Given the description of an element on the screen output the (x, y) to click on. 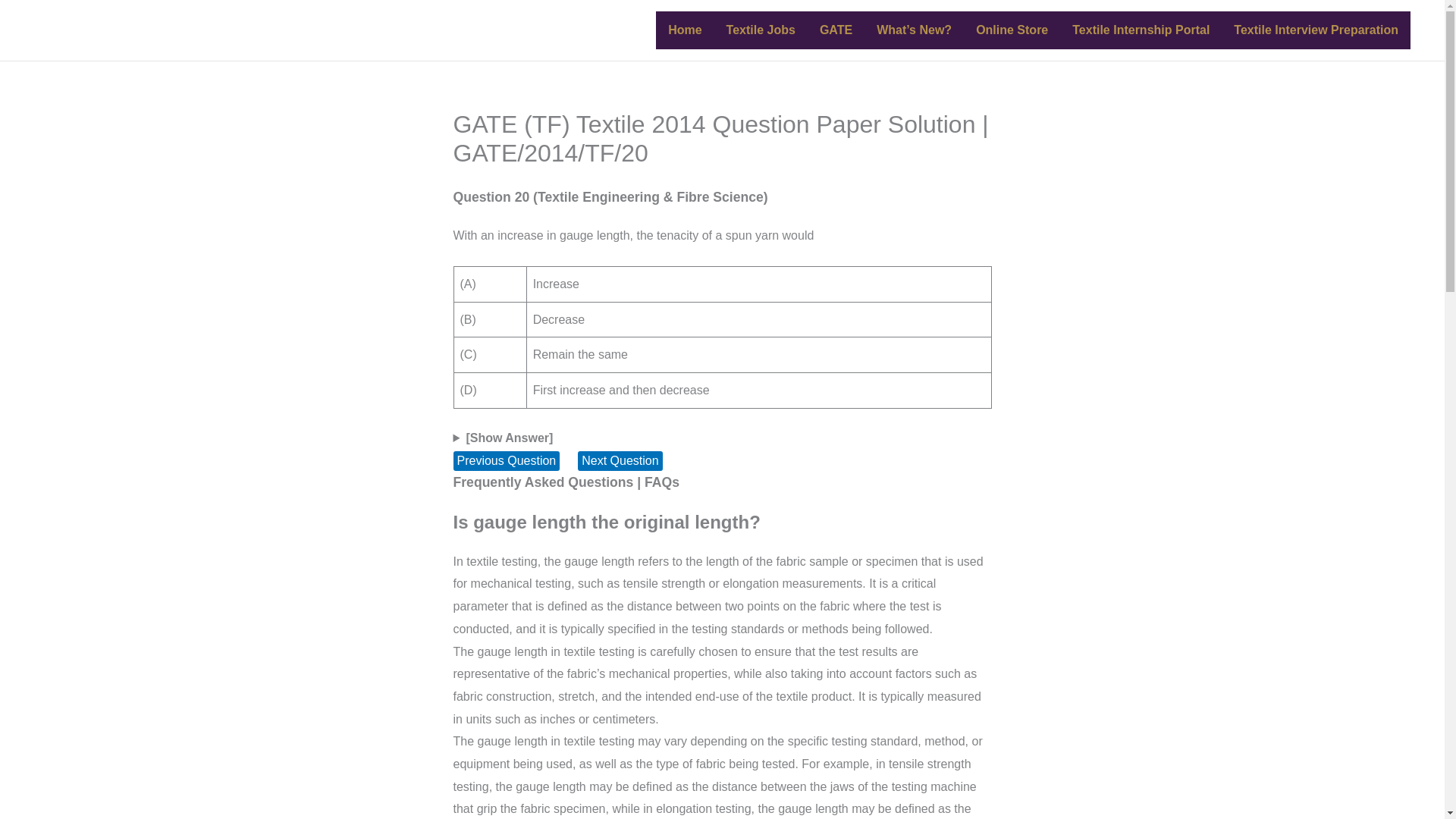
Textile Jobs (761, 30)
Online Store (1011, 30)
Previous Question (506, 460)
Textile Internship Portal (1140, 30)
Textile Interview Preparation (1315, 30)
GATE (836, 30)
Home (684, 30)
Next Question (620, 460)
